Given the description of an element on the screen output the (x, y) to click on. 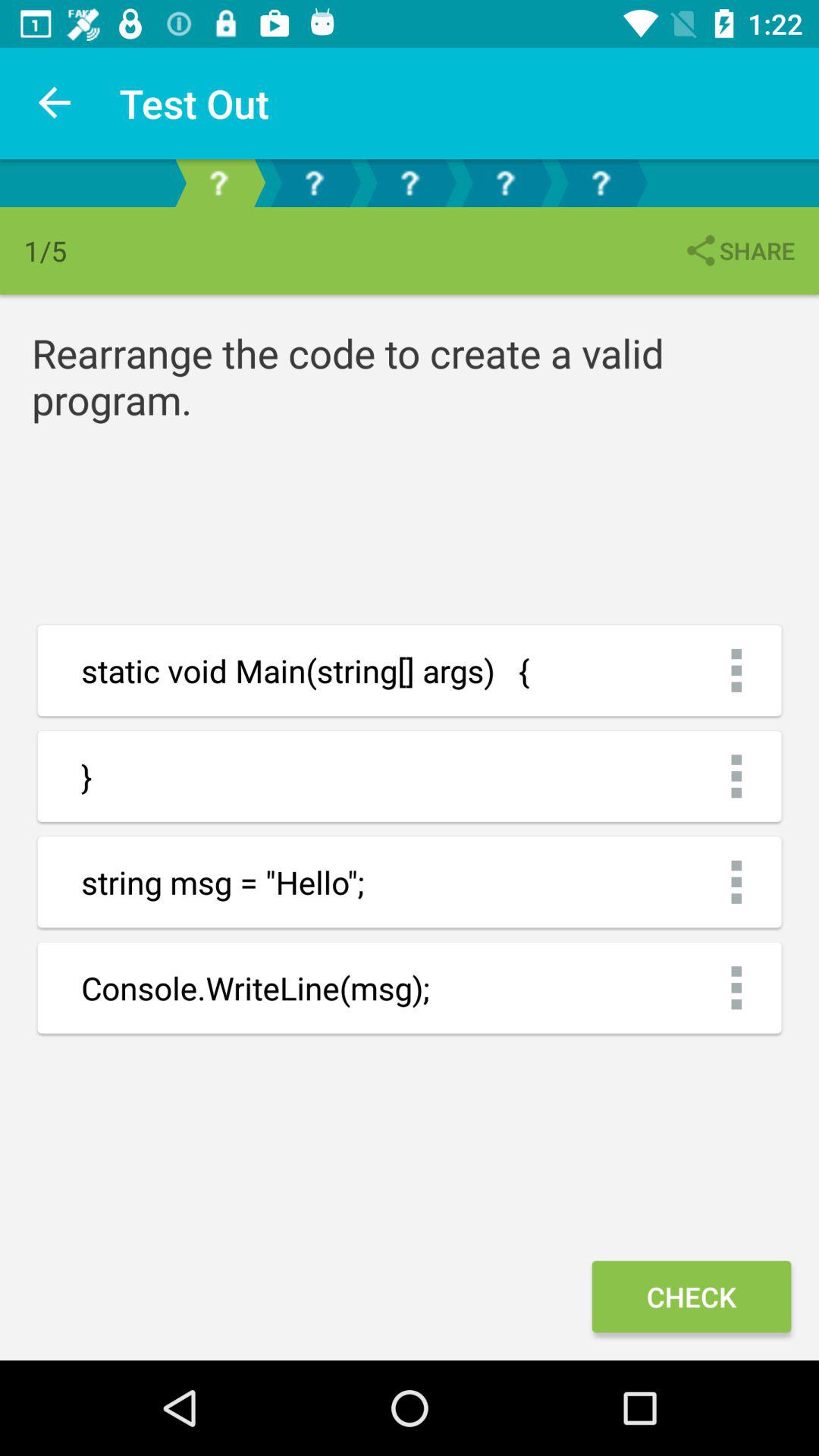
jump until the share (738, 250)
